Given the description of an element on the screen output the (x, y) to click on. 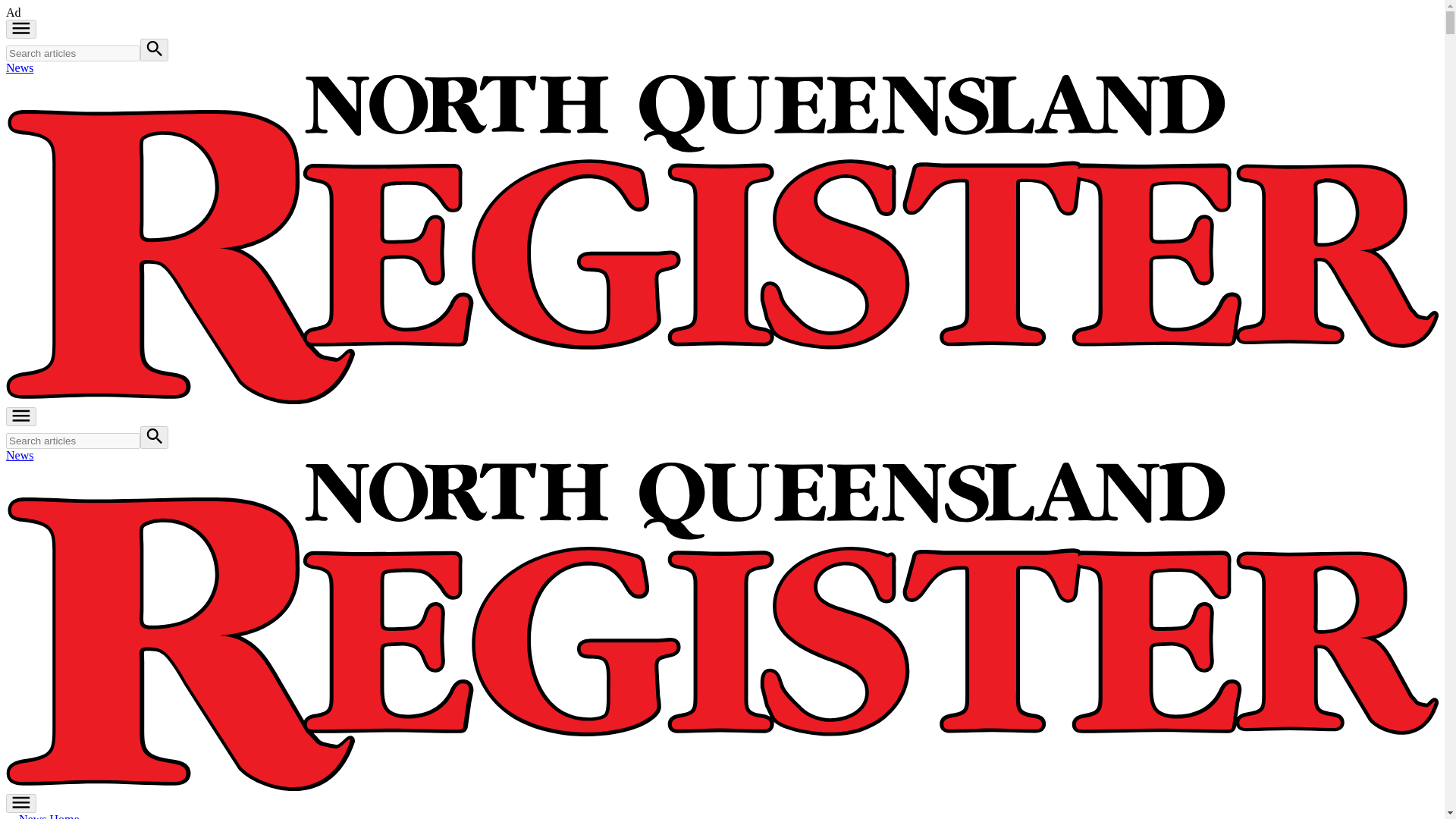
News Home (42, 816)
News (19, 67)
News (19, 454)
